Given the description of an element on the screen output the (x, y) to click on. 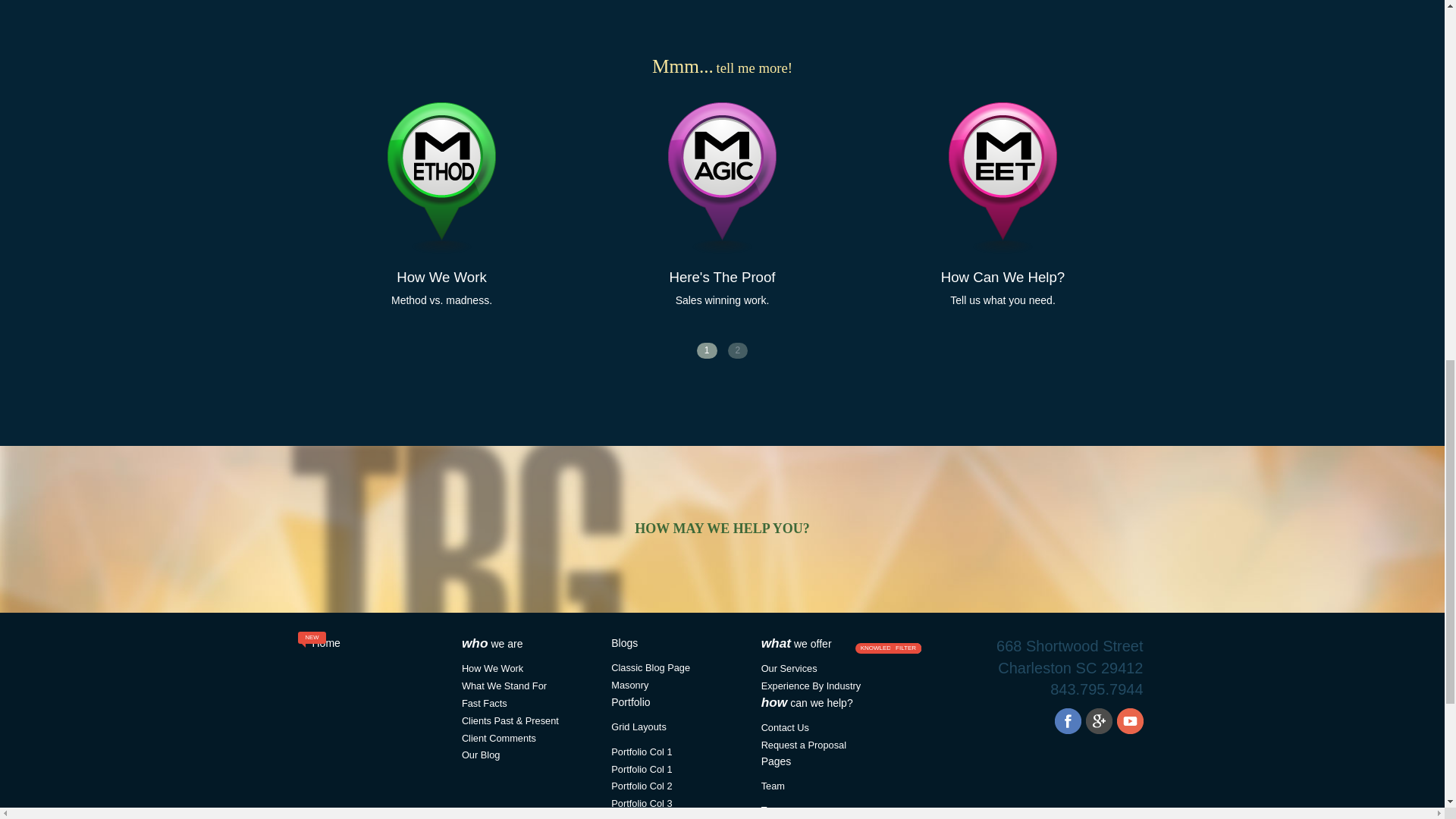
Blogs (624, 643)
what we offer (796, 644)
Our Services (788, 668)
Client Comments (498, 737)
Here's The Proof (721, 277)
How Can We Help? (1002, 277)
How We Work (491, 668)
Grid Layouts (638, 726)
Our Blog (480, 754)
Fast Facts (483, 703)
Home (326, 643)
who we are (491, 644)
How We Work (441, 277)
What We Stand For (641, 751)
